Given the description of an element on the screen output the (x, y) to click on. 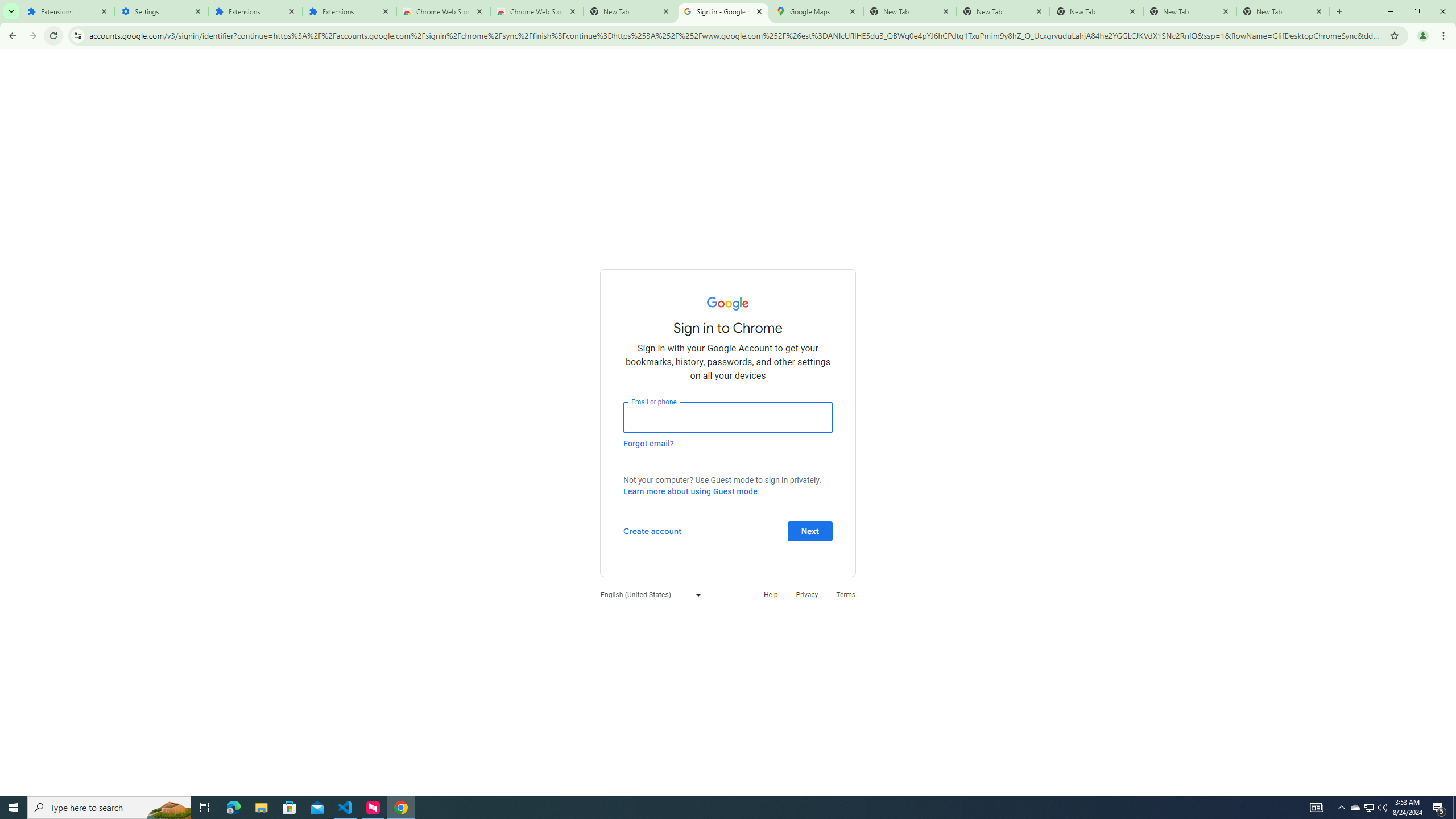
Sign in - Google Accounts (722, 11)
Chrome Web Store (443, 11)
New Tab (1283, 11)
Email or phone (727, 417)
Google Maps (815, 11)
